Given the description of an element on the screen output the (x, y) to click on. 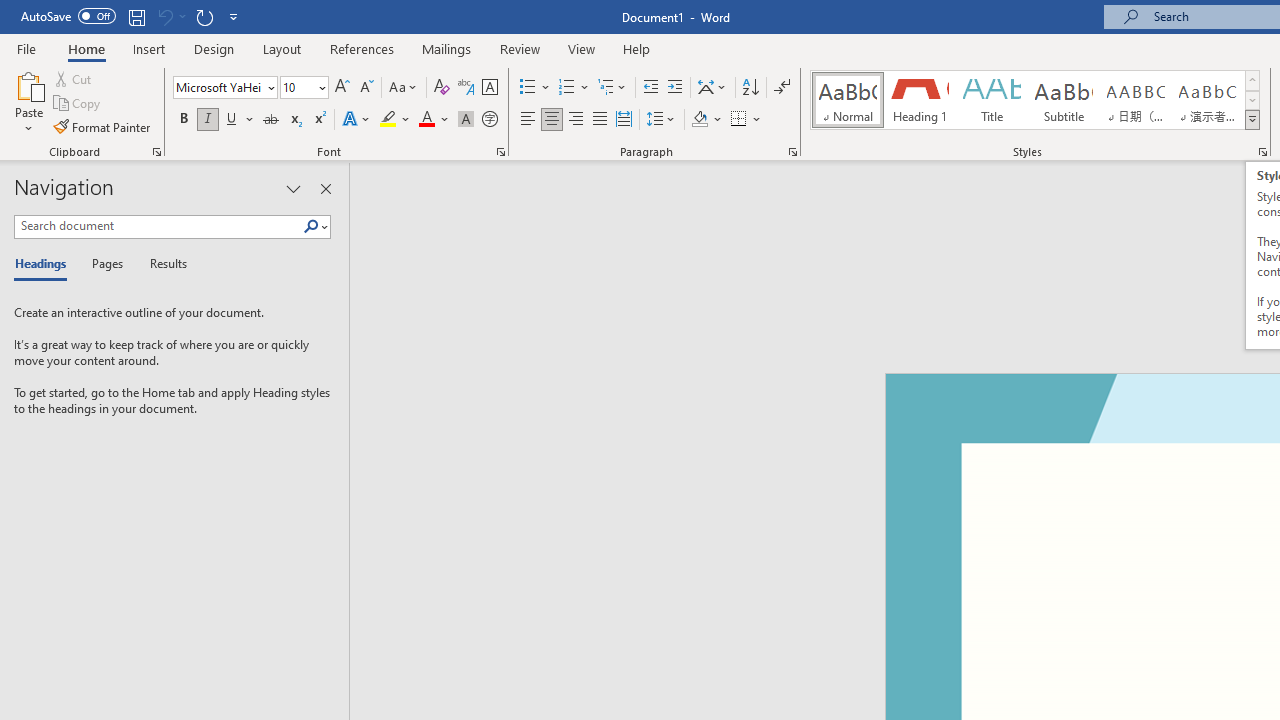
Clear Formatting (442, 87)
Phonetic Guide... (465, 87)
Align Left (527, 119)
Strikethrough (270, 119)
Repeat Doc Close (204, 15)
Shading RGB(0, 0, 0) (699, 119)
Font... (500, 151)
Text Highlight Color (395, 119)
Search document (157, 226)
Character Shading (465, 119)
Distributed (623, 119)
